Given the description of an element on the screen output the (x, y) to click on. 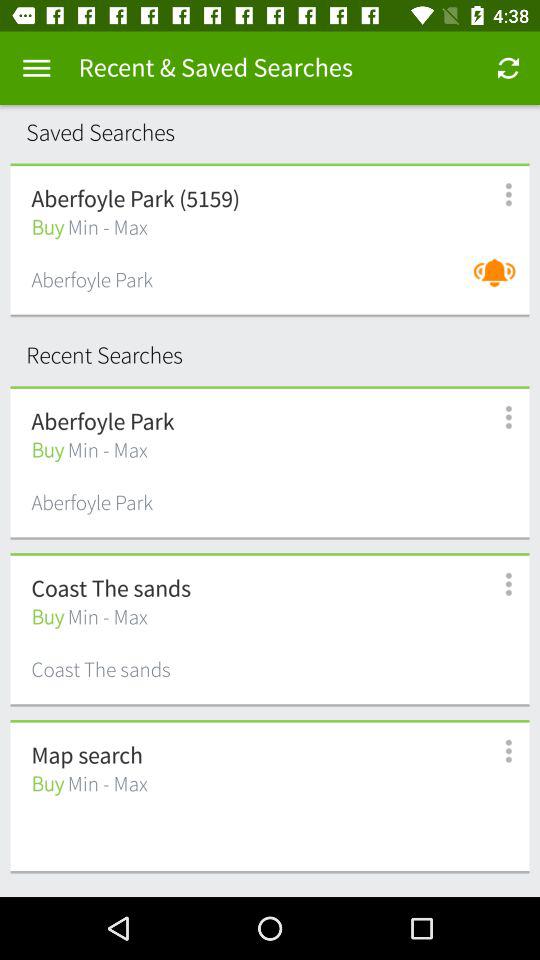
toggle menu (36, 68)
